Given the description of an element on the screen output the (x, y) to click on. 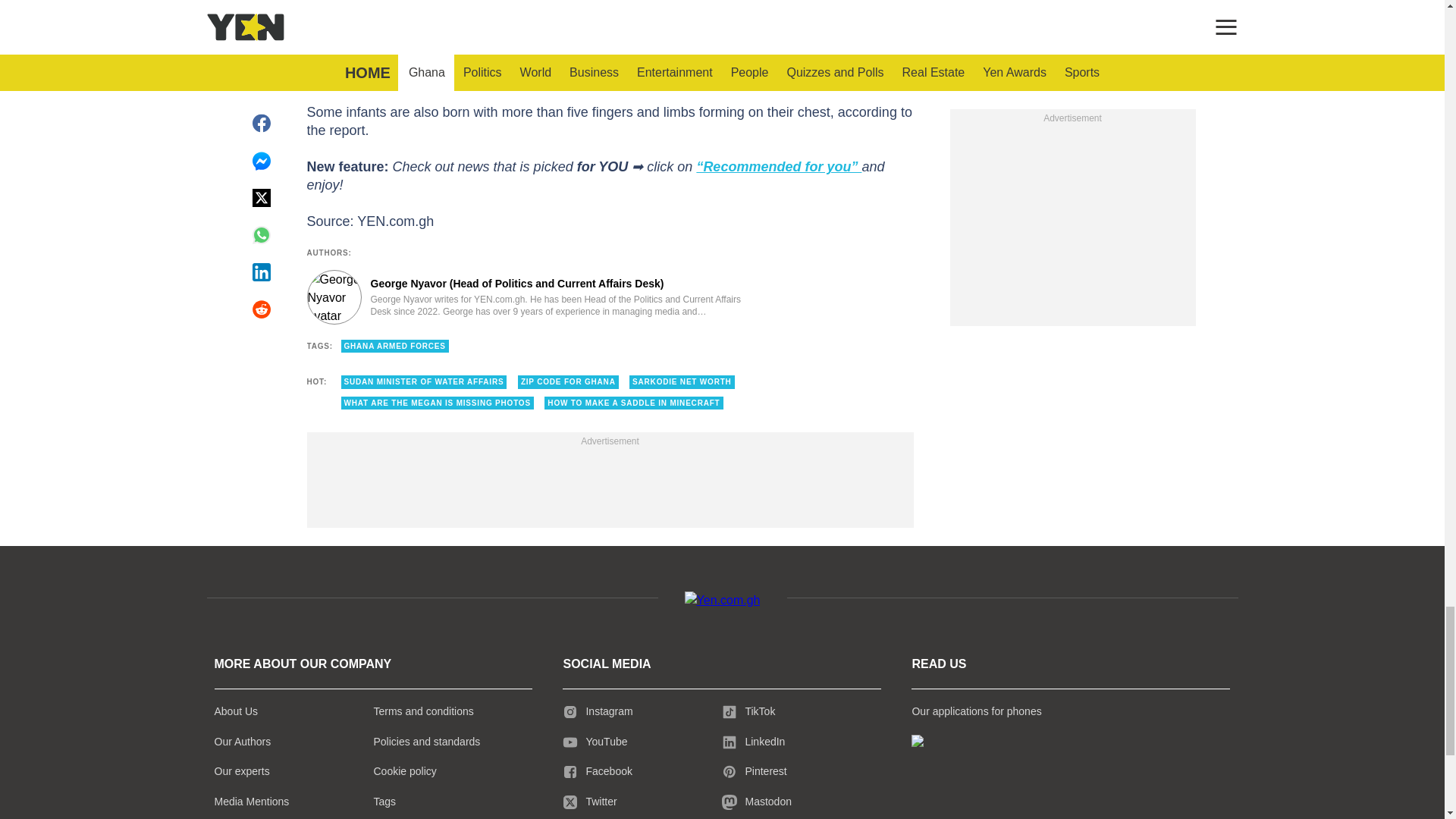
Author page (533, 297)
